Given the description of an element on the screen output the (x, y) to click on. 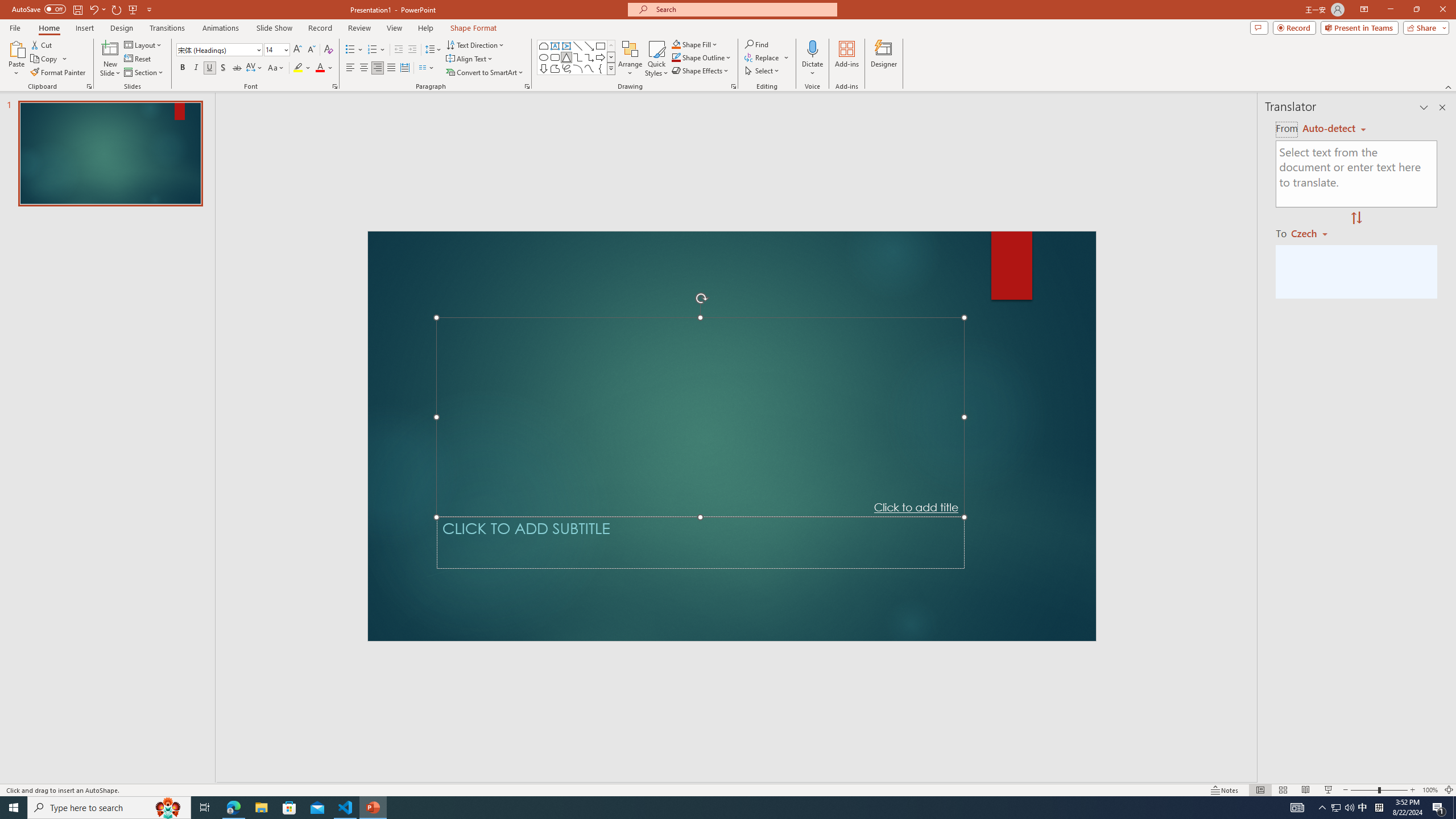
Swap "from" and "to" languages. (1355, 218)
Shape Effects (700, 69)
